Given the description of an element on the screen output the (x, y) to click on. 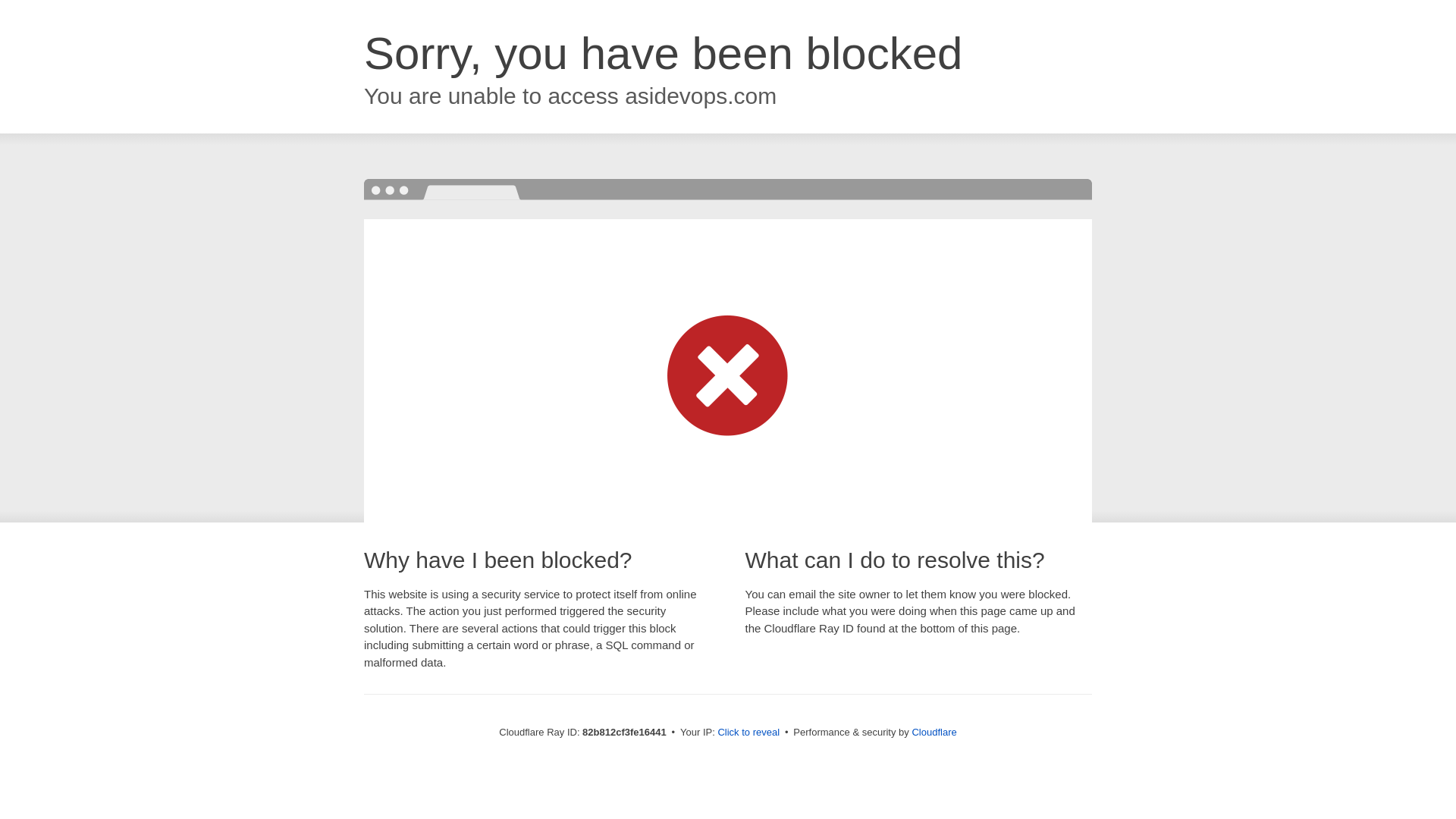
Cloudflare Element type: text (933, 731)
Click to reveal Element type: text (748, 732)
